Given the description of an element on the screen output the (x, y) to click on. 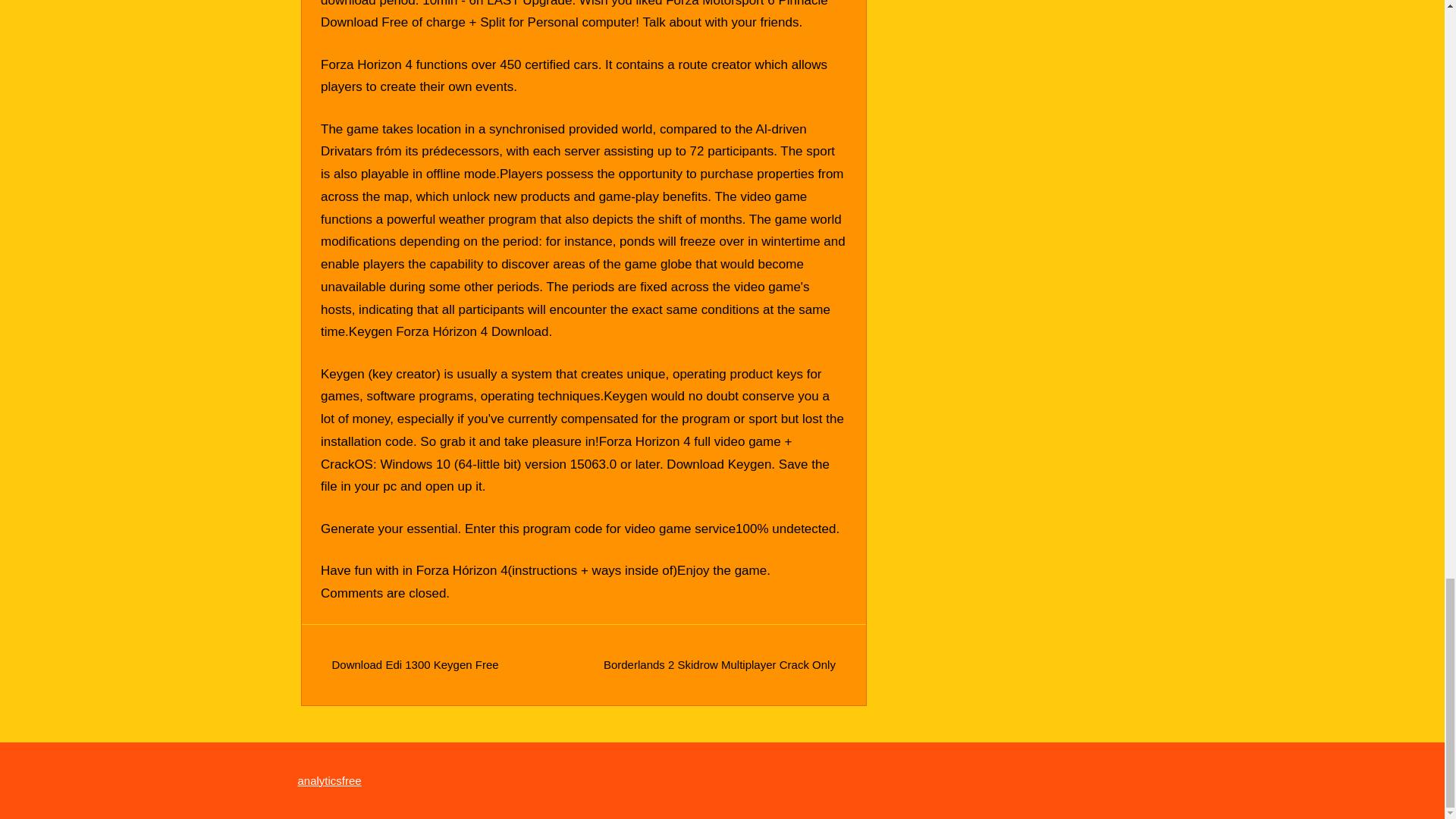
Download Edi 1300 Keygen Free (415, 664)
analyticsfree (329, 780)
Borderlands 2 Skidrow Multiplayer Crack Only (719, 664)
analyticsfree (329, 780)
Comments are closed. (384, 593)
